Given the description of an element on the screen output the (x, y) to click on. 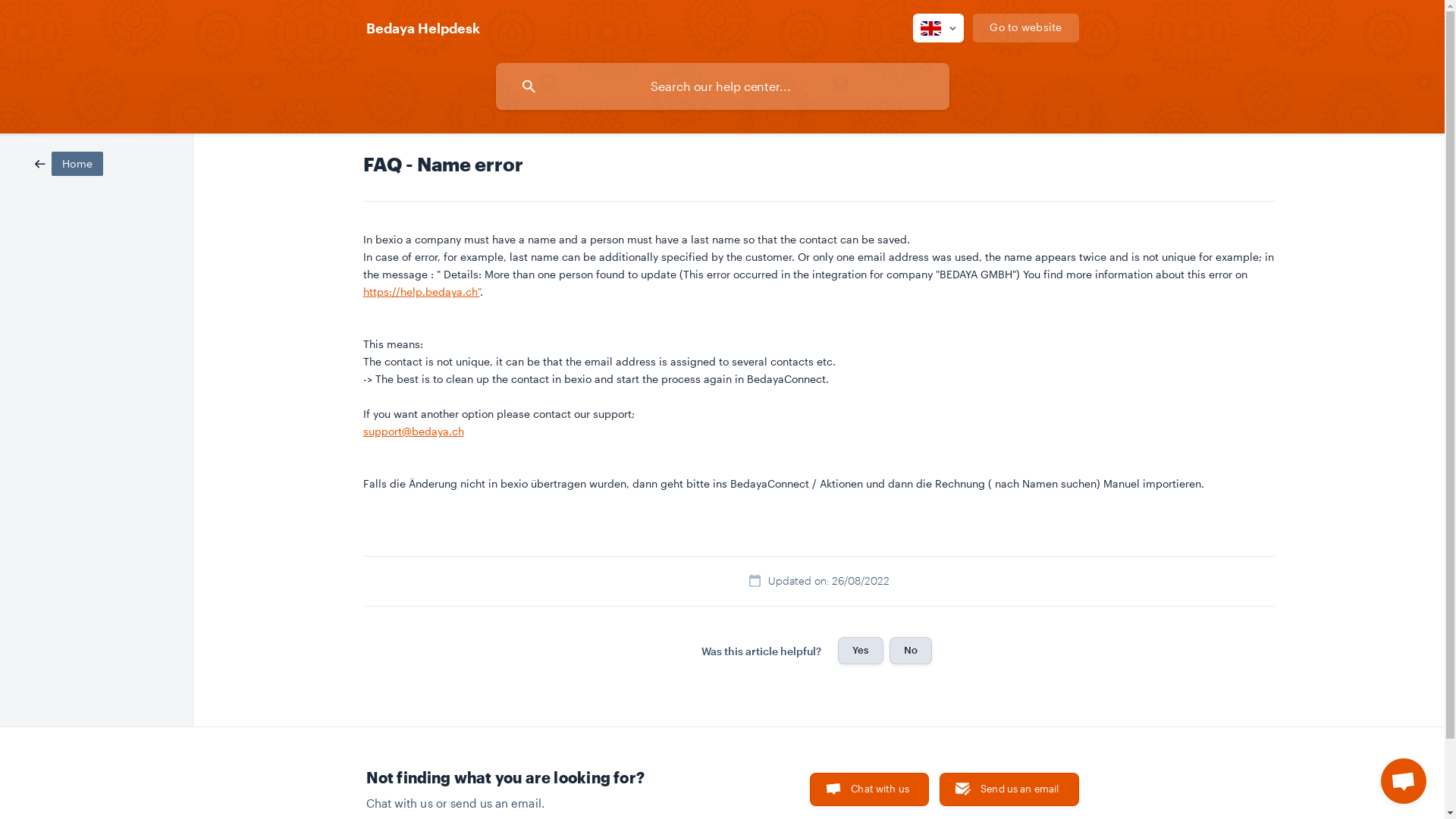
Home Element type: text (68, 162)
Go to website Element type: text (1025, 27)
No Element type: text (910, 650)
Chat with us Element type: text (868, 789)
Yes Element type: text (859, 650)
Bedaya Helpdesk Element type: text (422, 27)
support@bedaya.ch Element type: text (412, 430)
https://help.bedaya.ch" Element type: text (420, 291)
Send us an email Element type: text (1008, 789)
